Given the description of an element on the screen output the (x, y) to click on. 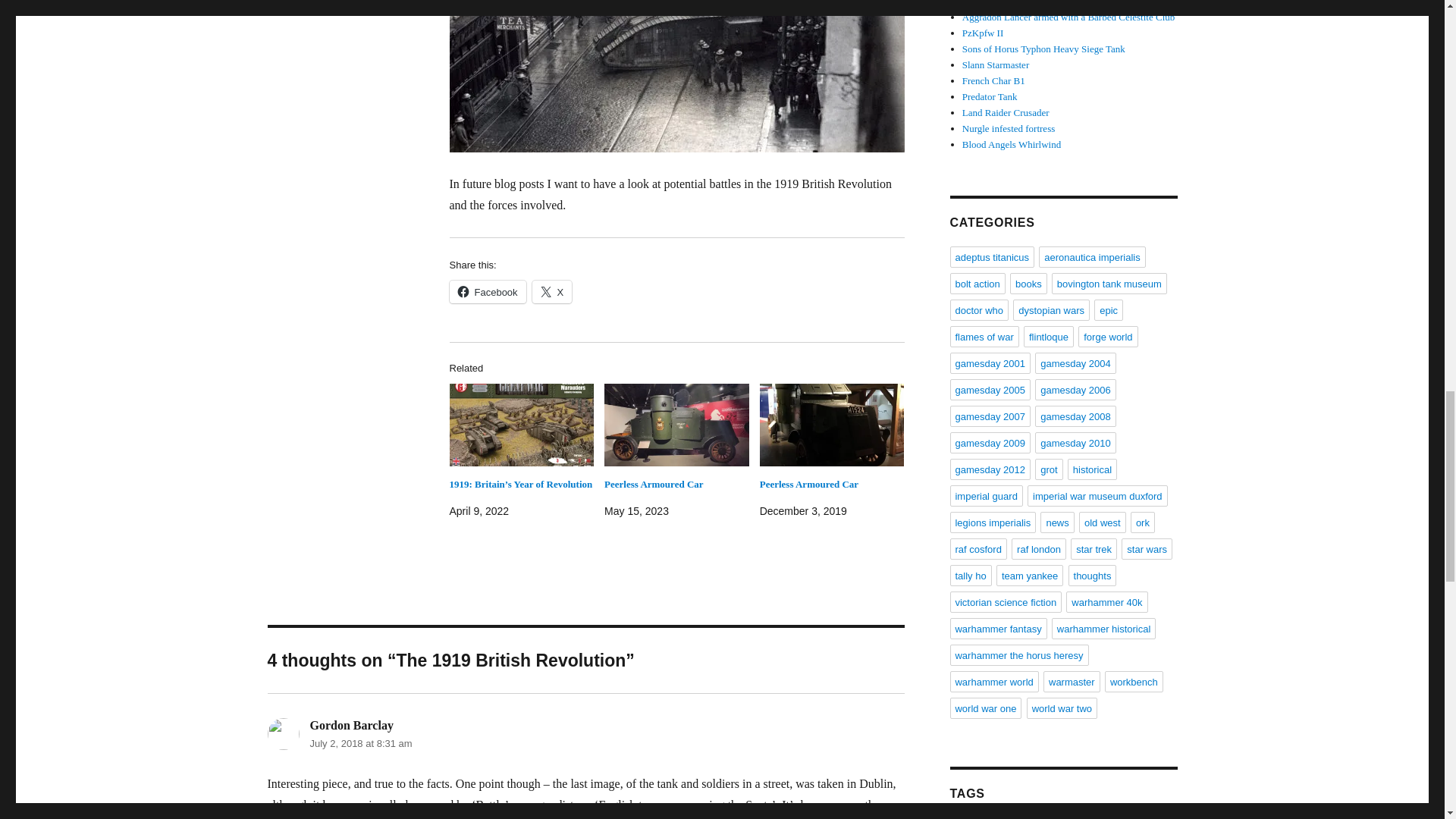
Peerless Armoured Car (676, 425)
Peerless Armoured Car (809, 483)
Peerless Armoured Car (832, 425)
Click to share on X (552, 291)
Peerless Armoured Car (653, 483)
Click to share on Facebook (486, 291)
X (552, 291)
Facebook (486, 291)
July 2, 2018 at 8:31 am (360, 743)
Peerless Armoured Car (653, 483)
Peerless Armoured Car (809, 483)
